Given the description of an element on the screen output the (x, y) to click on. 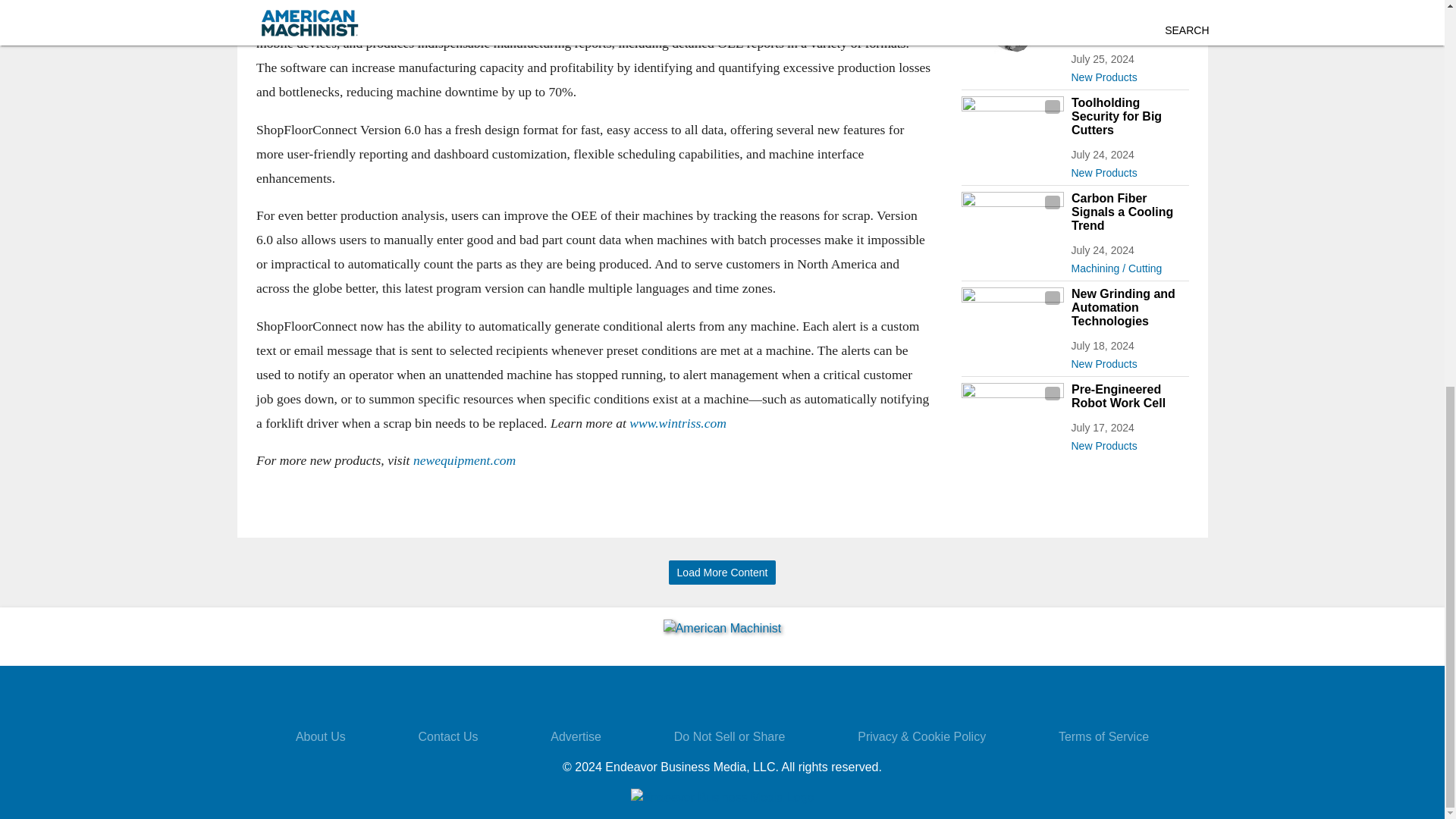
www.wintriss.com (677, 422)
WINTRISS CONTROLS GROUP (348, 1)
newequipment.com (463, 460)
Innovative Workholding for Turning and Milling (1129, 20)
New Products (1129, 74)
New Products (1129, 169)
Load More Content (722, 572)
New Grinding and Automation Technologies (1129, 307)
Pre-Engineered Robot Work Cell (1129, 396)
About Us (320, 736)
Carbon Fiber Signals a Cooling Trend (1129, 211)
New Products (1129, 361)
Do Not Sell or Share (730, 736)
Terms of Service (1103, 736)
New Products (1129, 443)
